Given the description of an element on the screen output the (x, y) to click on. 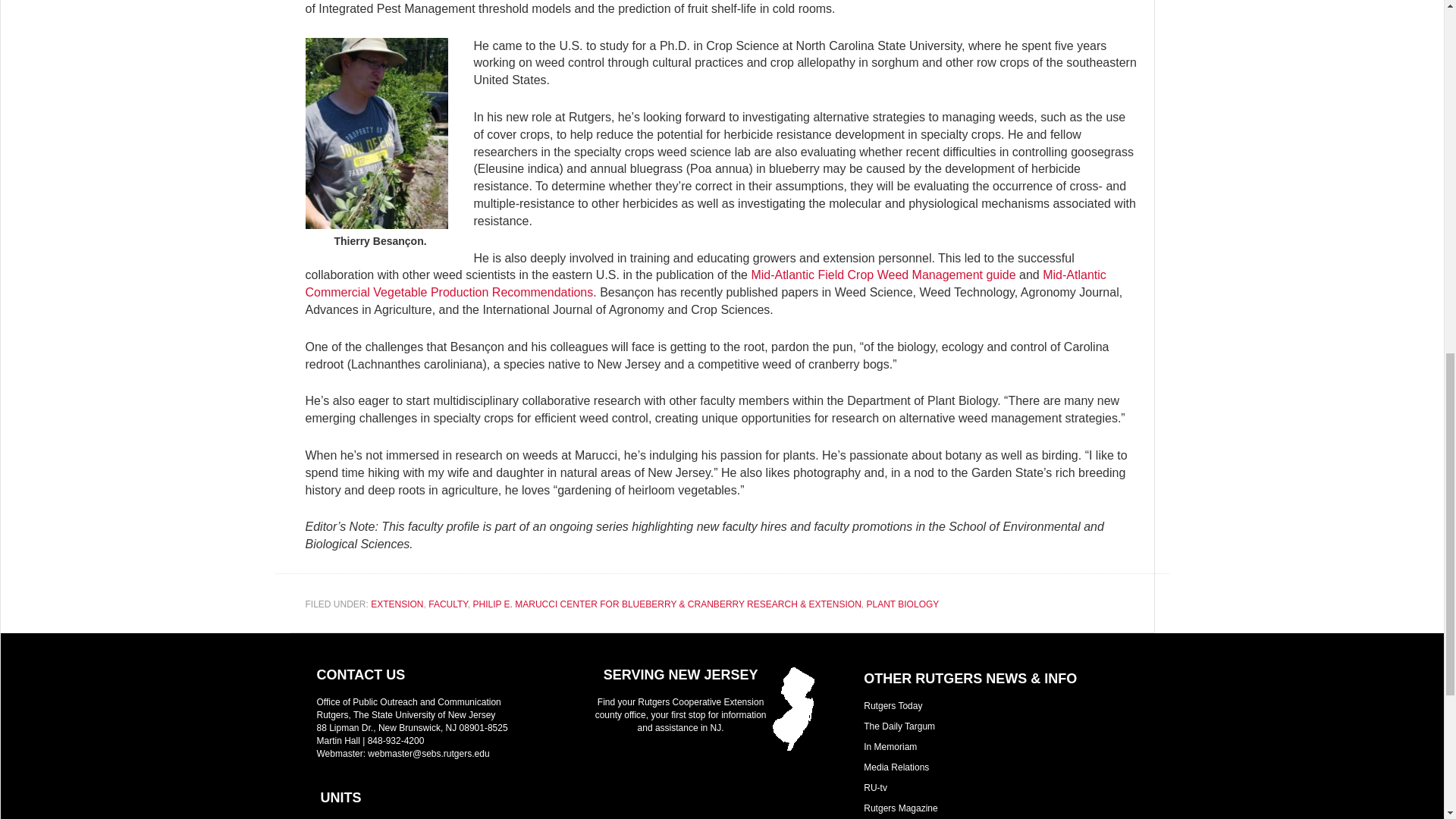
FACULTY (447, 603)
EXTENSION (397, 603)
Mid-Atlantic Commercial Vegetable Production Recommendations (704, 283)
PLANT BIOLOGY (902, 603)
Mid-Atlantic Field Crop Weed Management guide (882, 274)
